Given the description of an element on the screen output the (x, y) to click on. 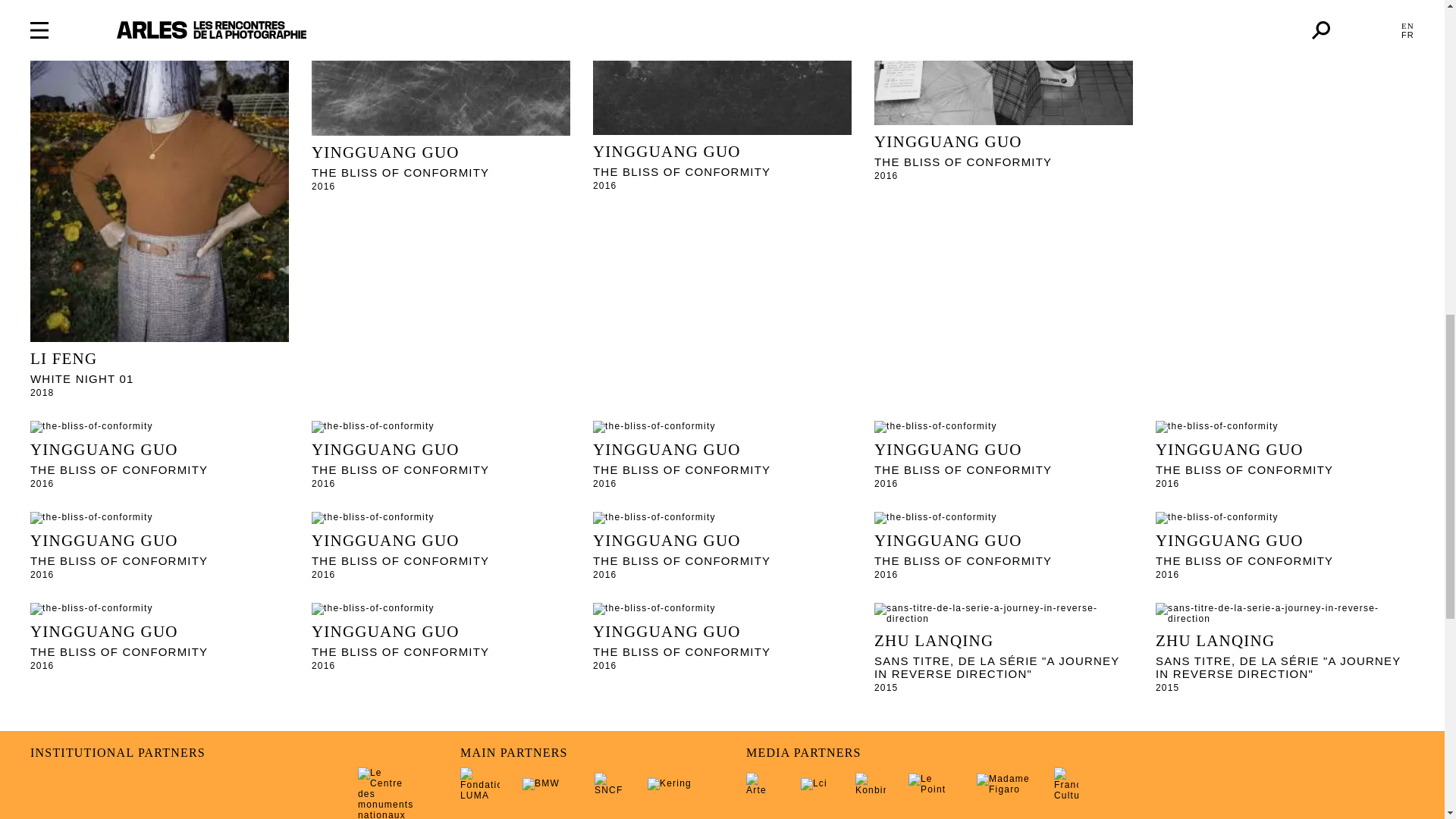
BMW (547, 784)
Konbini (870, 784)
Lci (816, 784)
Fondation LUMA (479, 783)
Arte (761, 784)
Madame Figaro (1003, 783)
Le Point (930, 783)
SNCF (609, 784)
Kering (673, 784)
